Given the description of an element on the screen output the (x, y) to click on. 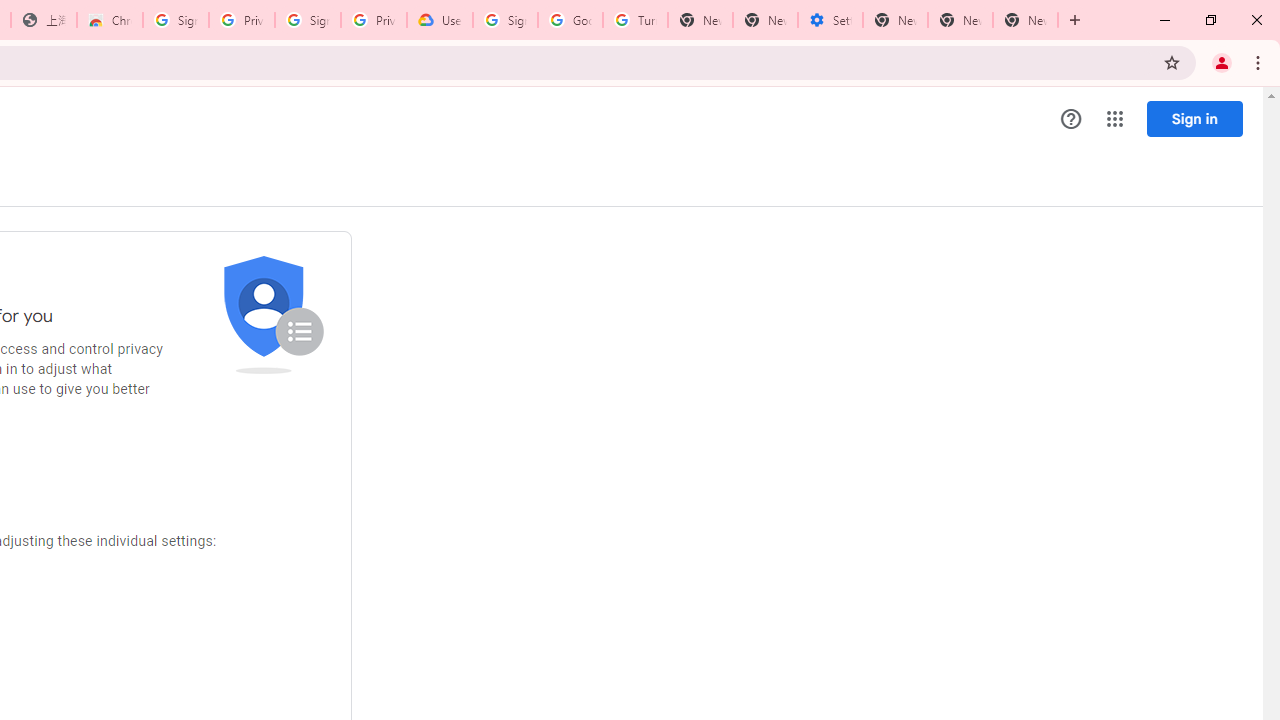
Google apps (1114, 118)
Sign in (1194, 118)
Settings - System (829, 20)
Sign in - Google Accounts (504, 20)
Turn cookies on or off - Computer - Google Account Help (635, 20)
Help (1071, 119)
New Tab (1025, 20)
